Given the description of an element on the screen output the (x, y) to click on. 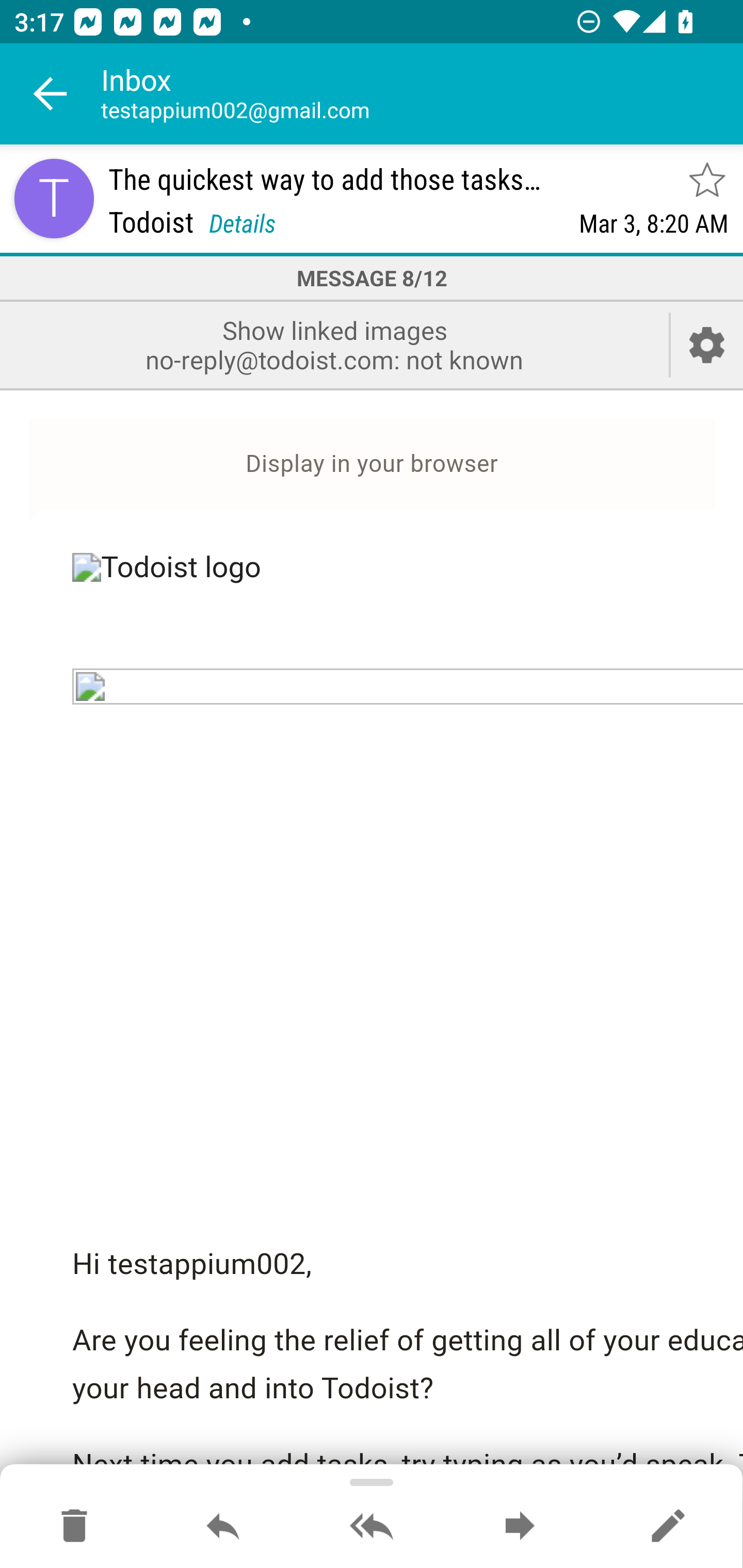
Navigate up (50, 93)
Inbox testappium002@gmail.com (422, 93)
Sender contact button (53, 198)
Show linked images
no-reply@todoist.com: not known (334, 344)
Account setup (706, 344)
Display in your browser (371, 464)
Move to Deleted (74, 1527)
Reply (222, 1527)
Reply all (371, 1527)
Forward (519, 1527)
Reply as new (667, 1527)
